Given the description of an element on the screen output the (x, y) to click on. 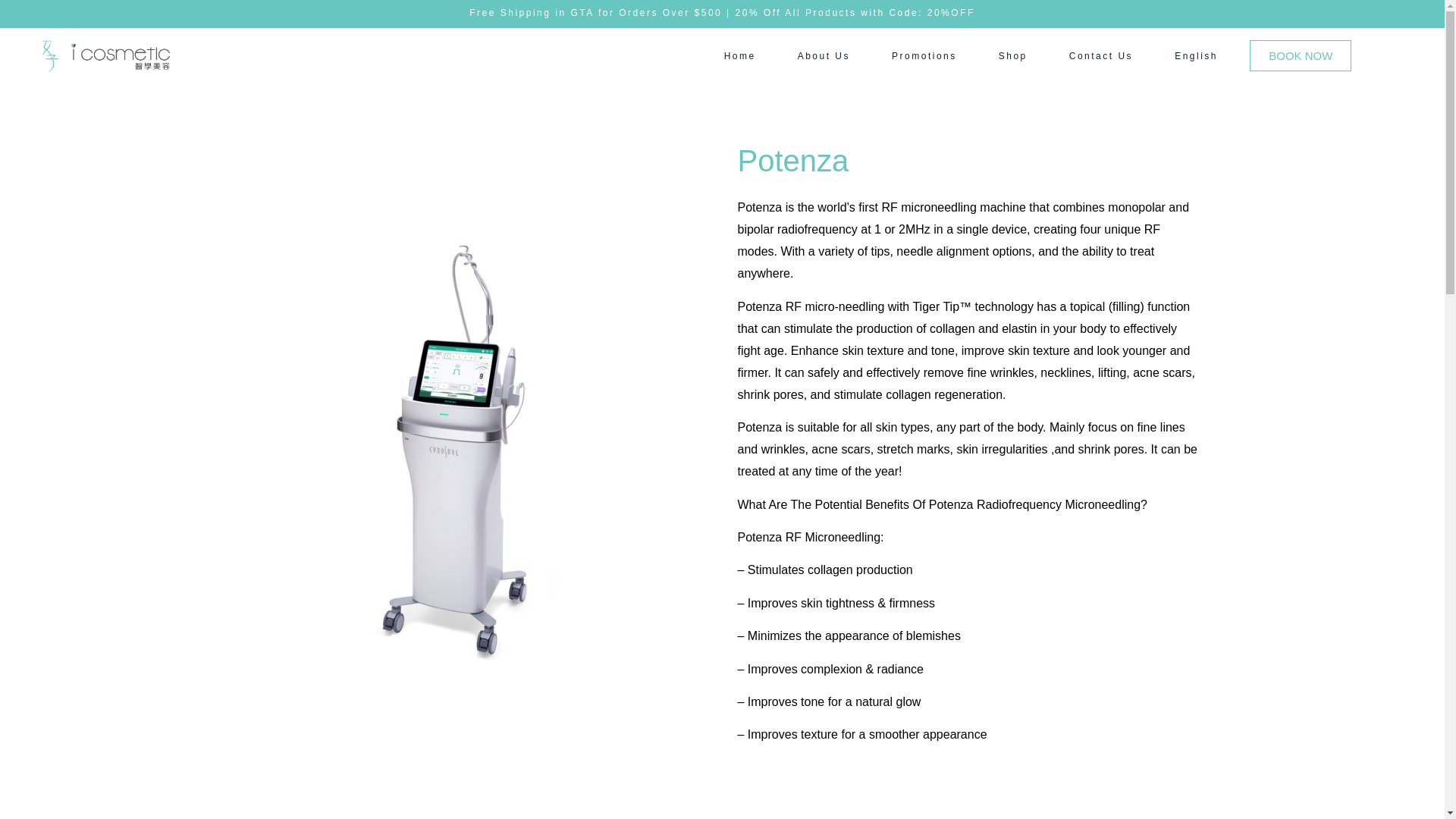
Home (740, 55)
English (1195, 55)
